Given the description of an element on the screen output the (x, y) to click on. 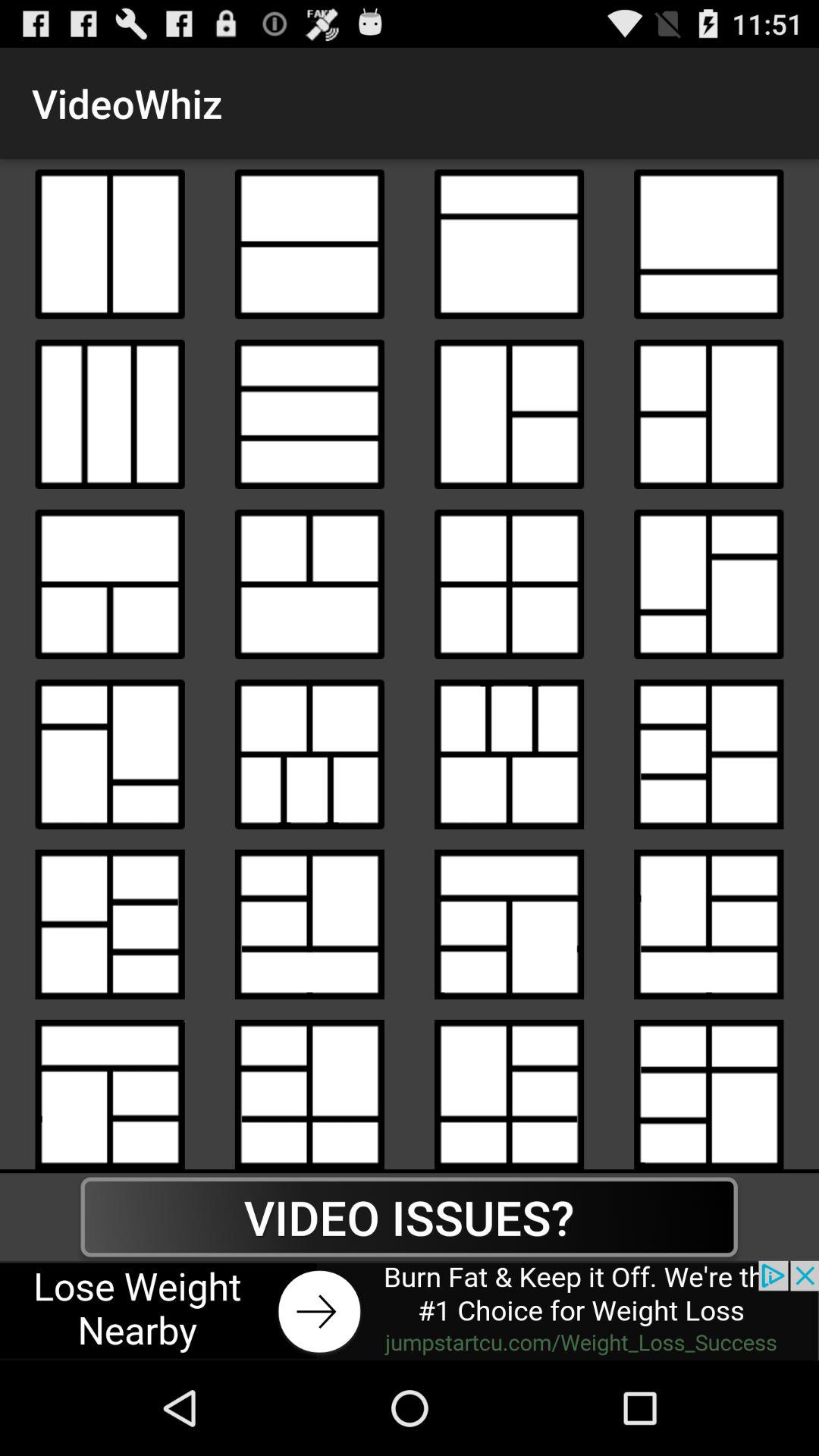
video split options (509, 414)
